Given the description of an element on the screen output the (x, y) to click on. 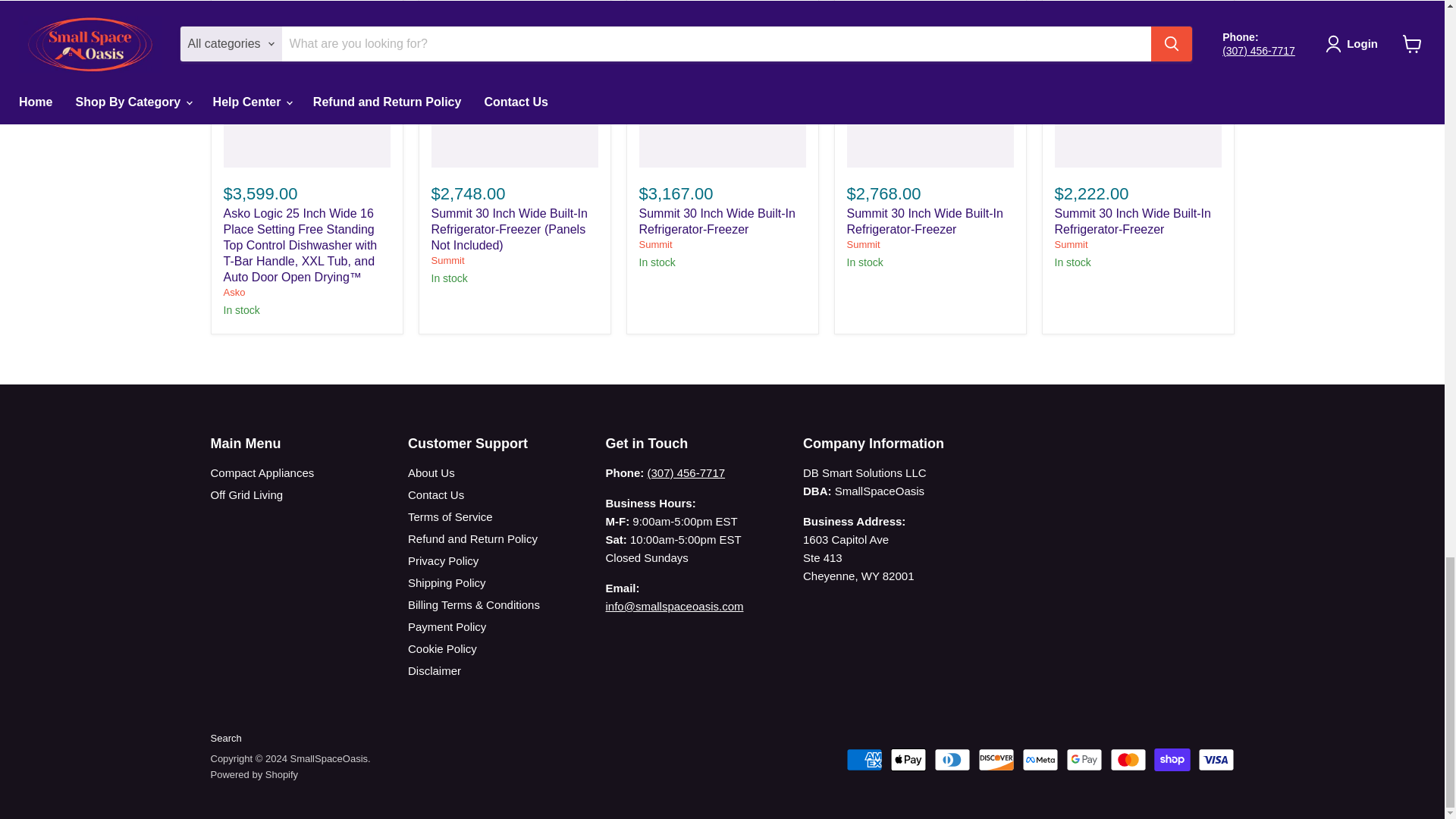
Summit (655, 244)
Asko (233, 292)
American Express (863, 759)
Summit (1070, 244)
Apple Pay (907, 759)
Summit (447, 260)
Diners Club (952, 759)
Summit (862, 244)
